Given the description of an element on the screen output the (x, y) to click on. 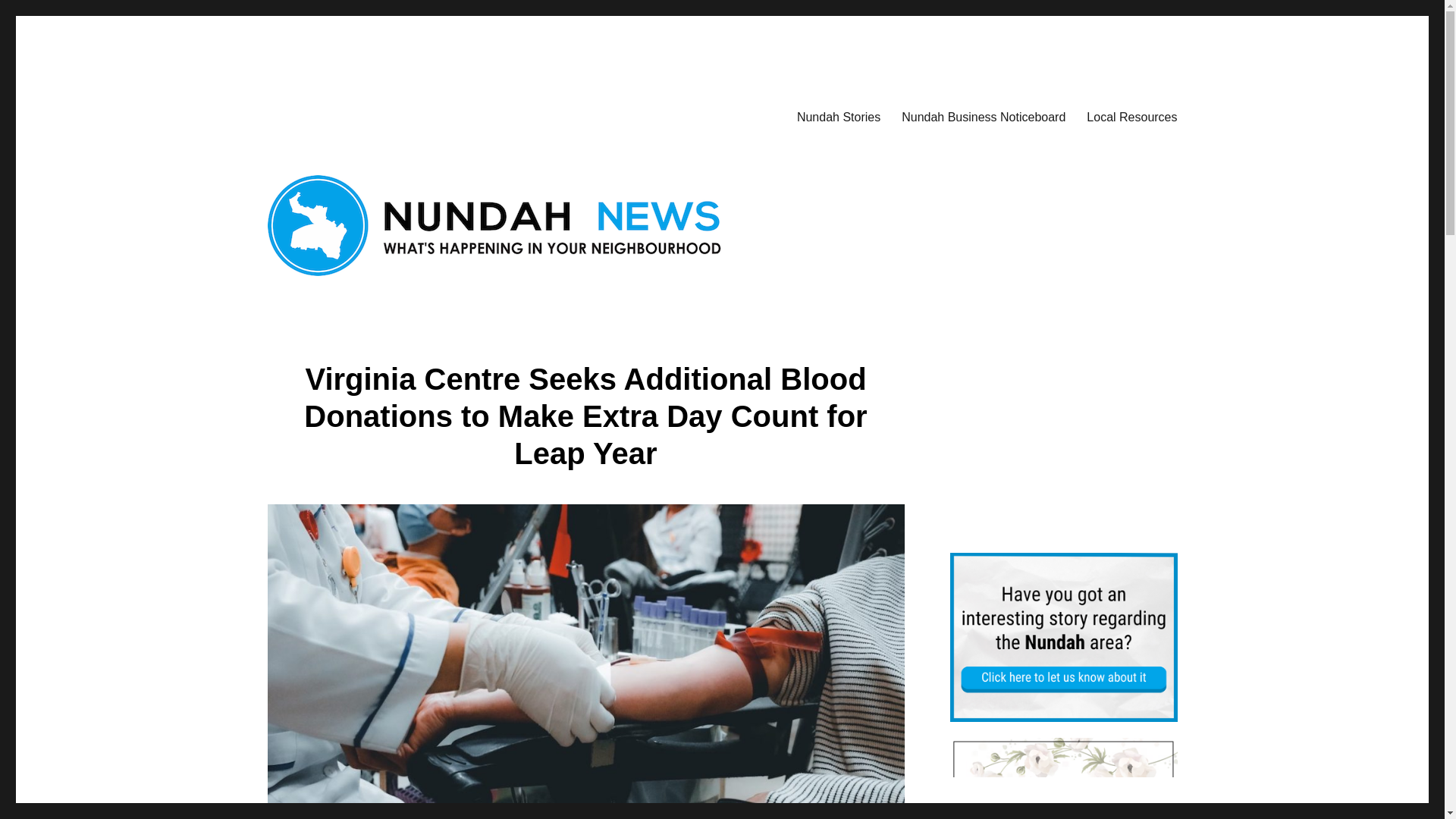
Nundah News (336, 114)
Nundah Stories (838, 116)
Nundah Business Noticeboard (983, 116)
Local Resources (1131, 116)
